Given the description of an element on the screen output the (x, y) to click on. 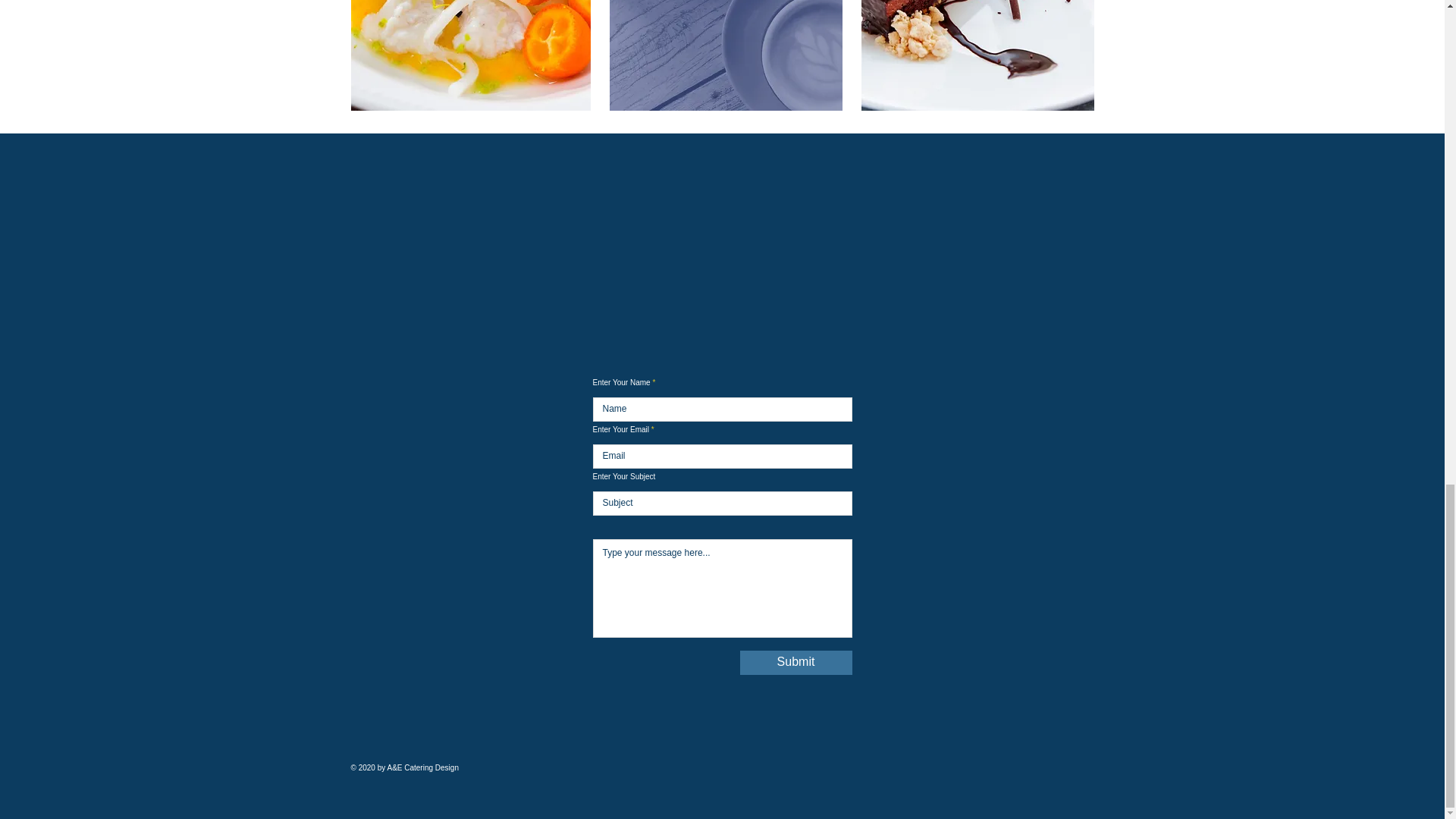
Submit (795, 662)
